Given the description of an element on the screen output the (x, y) to click on. 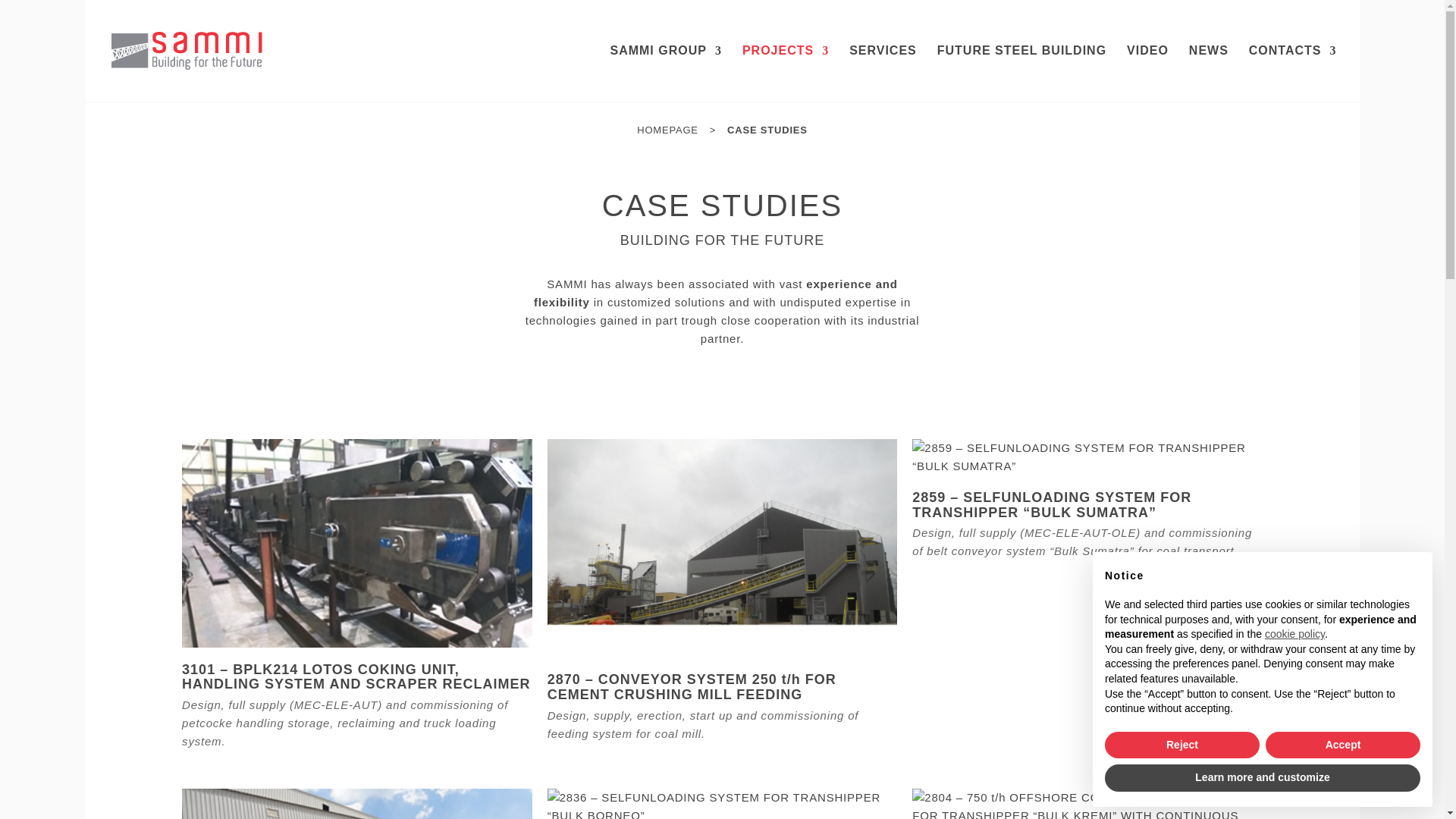
Homepage (667, 129)
CONTACTS (1292, 73)
HOMEPAGE (667, 129)
SAMMI GROUP (665, 73)
PROJECTS (785, 73)
FUTURE STEEL BUILDING (1021, 73)
SERVICES (882, 73)
